Given the description of an element on the screen output the (x, y) to click on. 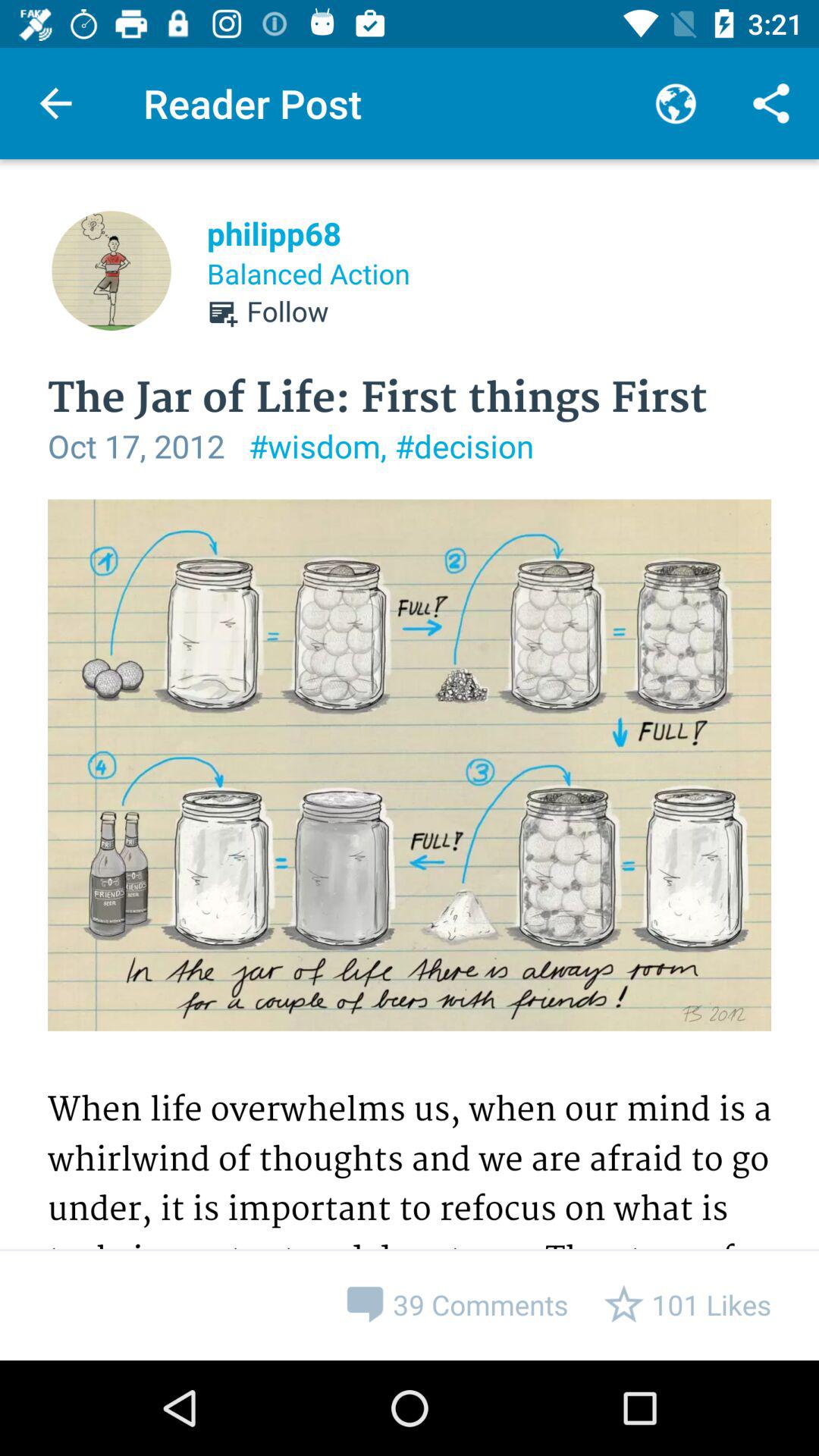
ateno (409, 929)
